Given the description of an element on the screen output the (x, y) to click on. 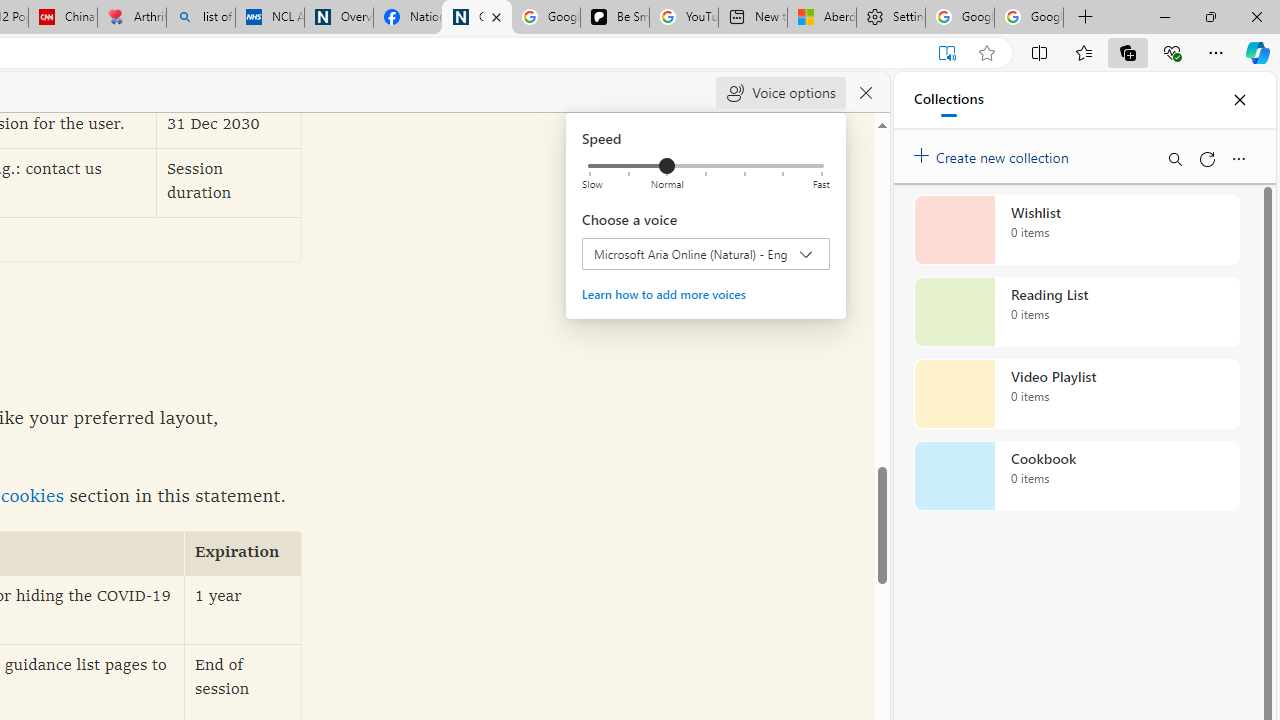
Enter Immersive Reader (F9) (946, 53)
More options menu (1238, 158)
Close read aloud (865, 92)
NCL Adult Asthma Inhaler Choice Guideline (269, 17)
Video Playlist collection, 0 items (1076, 394)
